Given the description of an element on the screen output the (x, y) to click on. 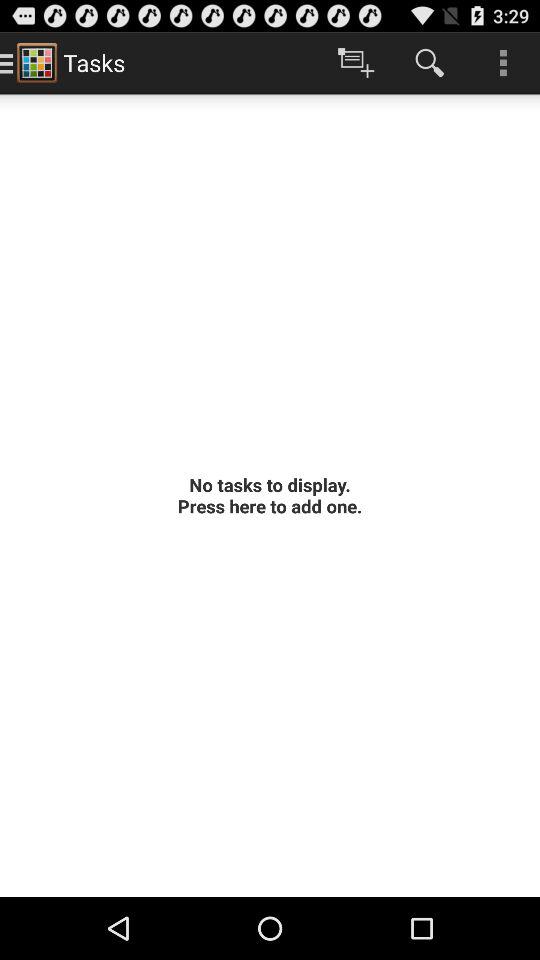
select the no tasks to (270, 495)
